Given the description of an element on the screen output the (x, y) to click on. 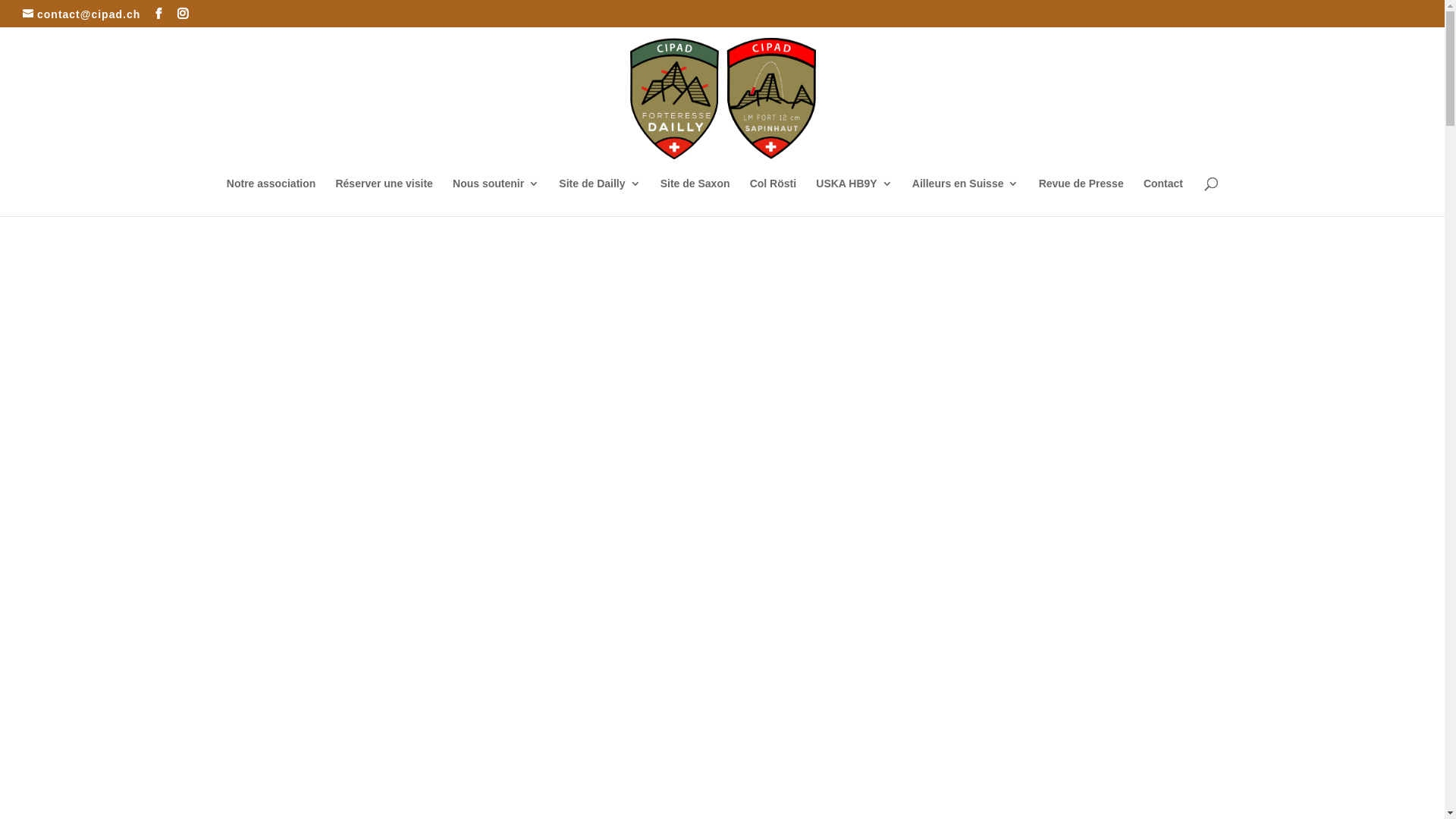
Ailleurs en Suisse Element type: text (965, 197)
Nous soutenir Element type: text (495, 197)
USKA HB9Y Element type: text (853, 197)
Site de Dailly Element type: text (599, 197)
Contact Element type: text (1163, 197)
contact@cipad.ch Element type: text (81, 13)
Notre association Element type: text (270, 197)
Revue de Presse Element type: text (1080, 197)
Site de Saxon Element type: text (695, 197)
